Given the description of an element on the screen output the (x, y) to click on. 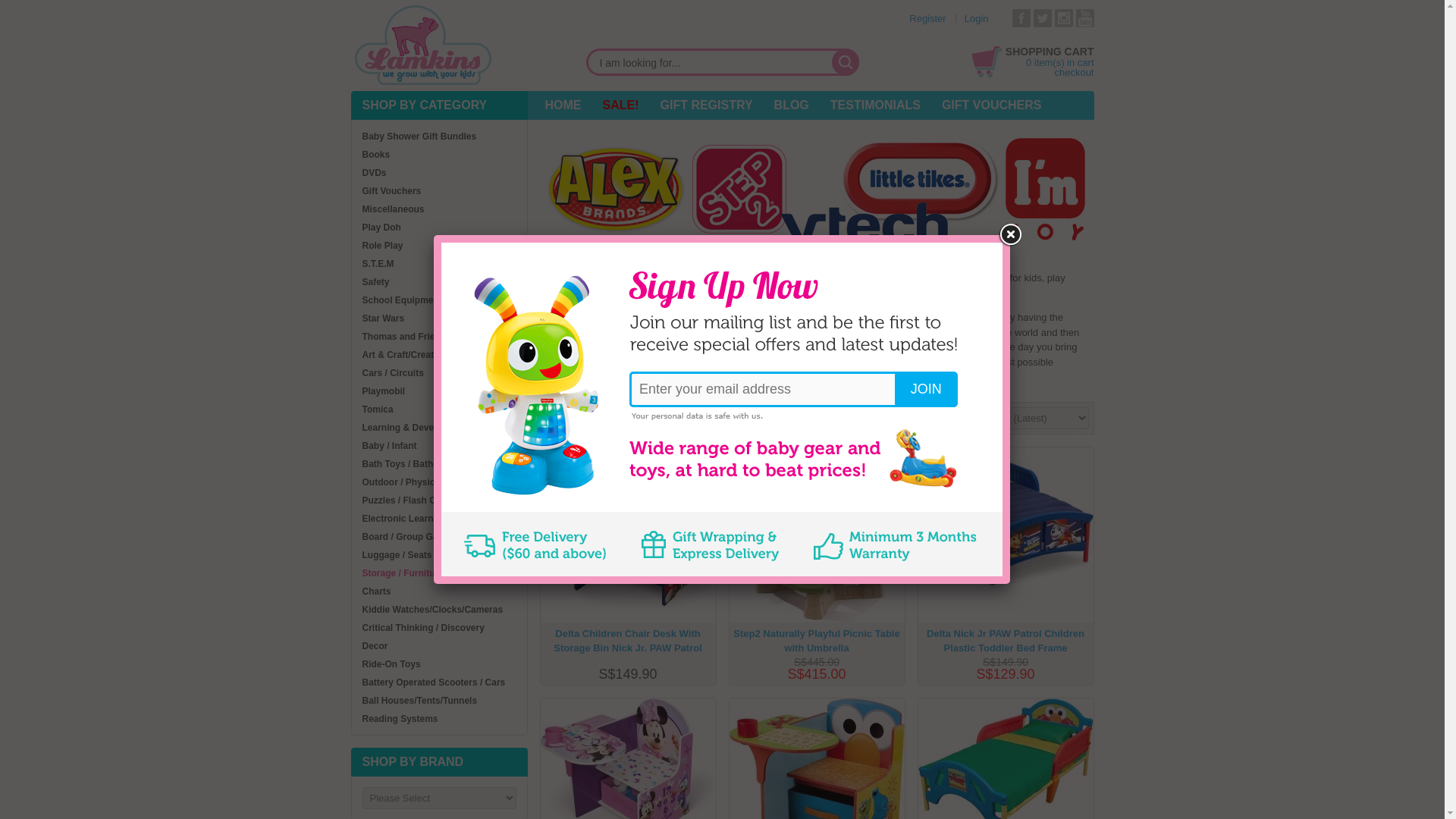
Delta Nick Jr PAW Patrol Children Plastic Toddler Bed Frame (1005, 517)
Login (975, 18)
Role Play (382, 245)
Ride-On Toys (391, 664)
DVDs (374, 172)
Twitter (1041, 18)
Baby Shower Gift Bundles (419, 136)
Instagram (1062, 18)
Facebook (1020, 18)
Gift Vouchers (392, 190)
Play Doh (381, 226)
Safety (376, 281)
School Equipment (402, 299)
checkout (1073, 71)
Decor (375, 645)
